Given the description of an element on the screen output the (x, y) to click on. 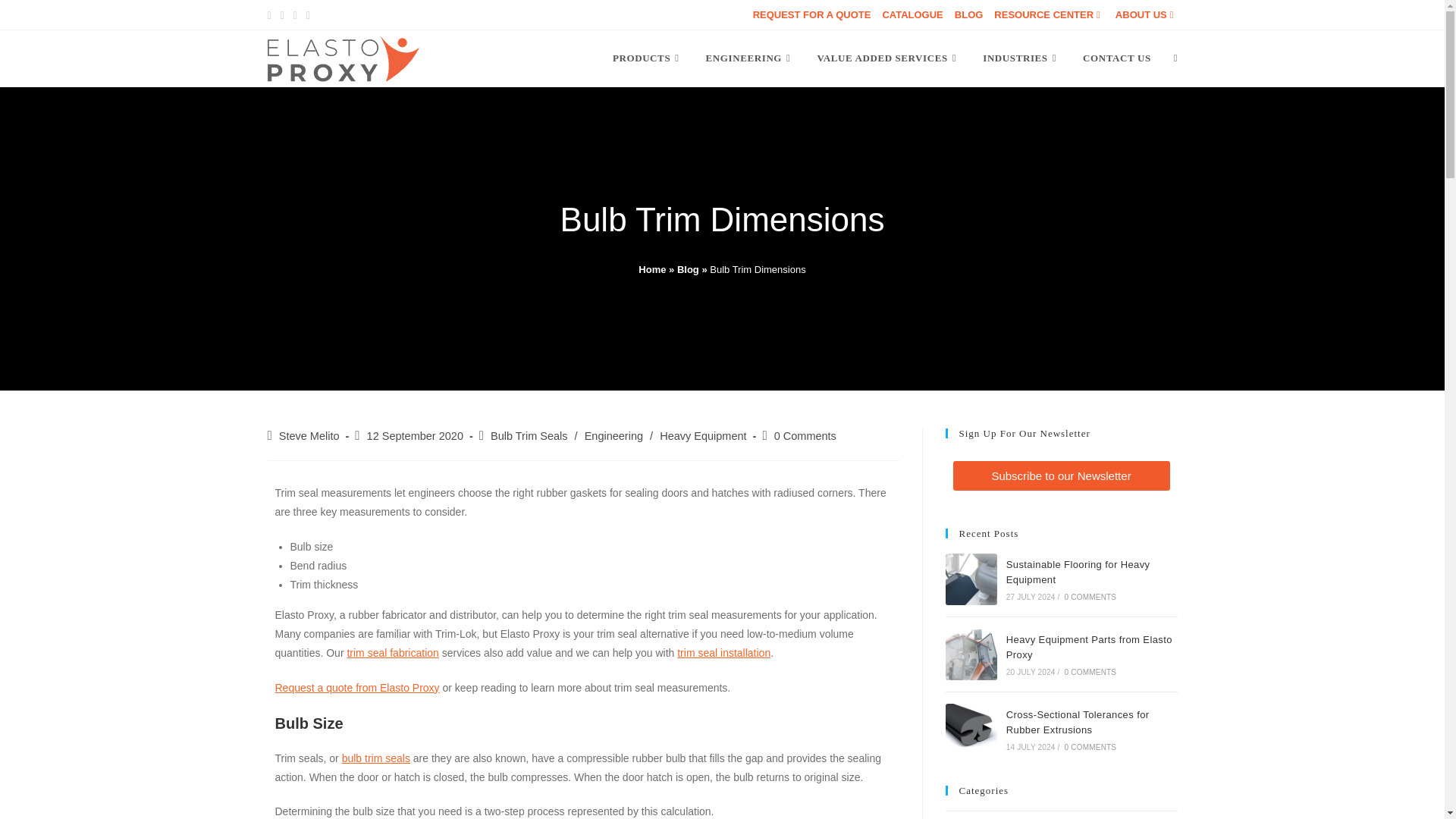
ABOUT US (1146, 14)
Sustainable Flooring for Heavy Equipment (969, 579)
REQUEST FOR A QUOTE (811, 14)
Cross-Sectional Tolerances for Rubber Extrusions (969, 729)
RESOURCE CENTER (1048, 14)
CATALOGUE (912, 14)
Heavy Equipment Parts from Elasto Proxy (969, 654)
Posts by Steve Melito (309, 435)
BLOG (969, 14)
